Given the description of an element on the screen output the (x, y) to click on. 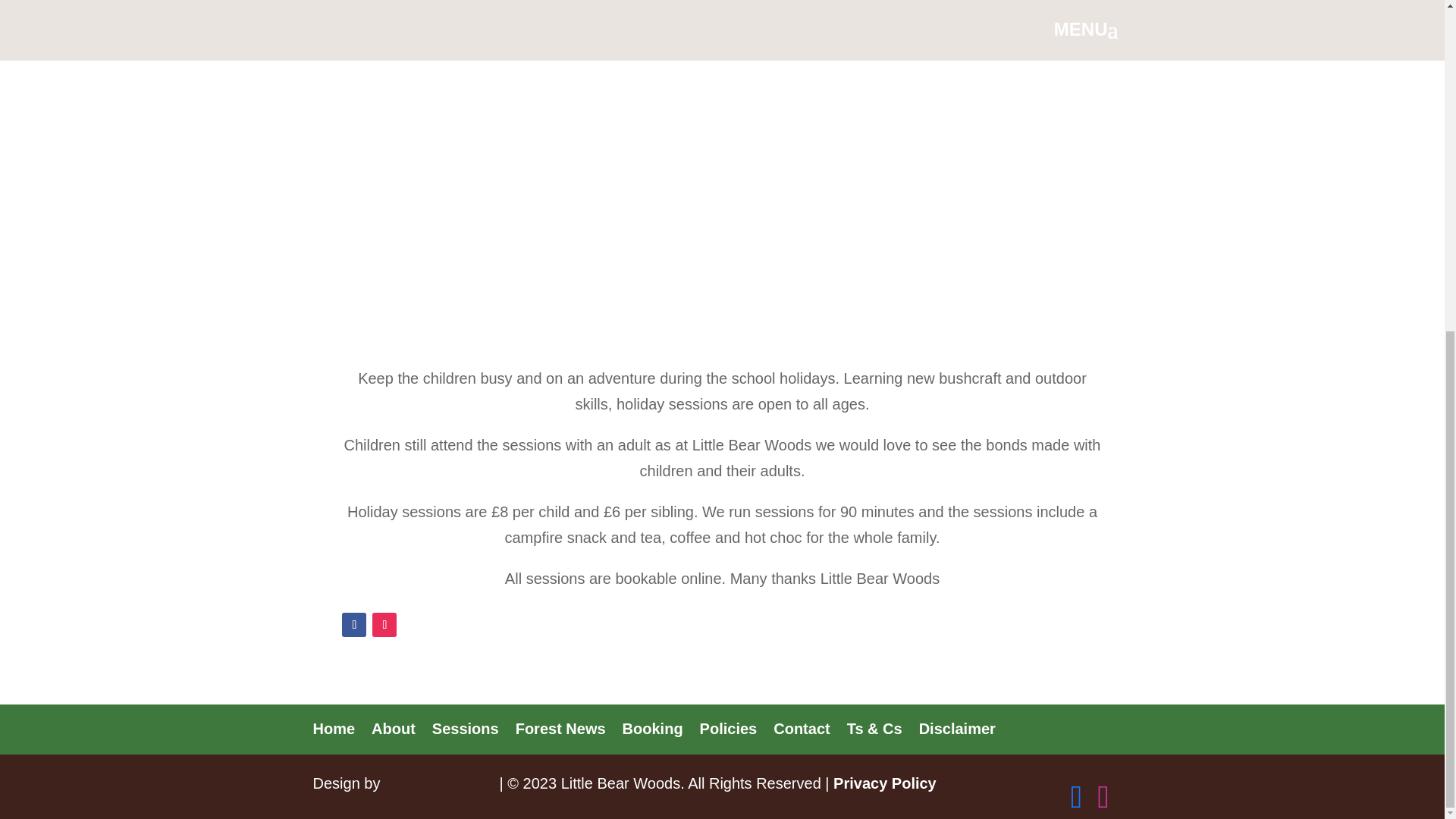
Policies (728, 728)
Home (334, 728)
Sessions (465, 728)
Booking (652, 728)
Follow on Instagram (384, 624)
Privacy Policy (884, 782)
Disclaimer (956, 728)
Contact (801, 728)
Web Design (439, 782)
About (392, 728)
